Given the description of an element on the screen output the (x, y) to click on. 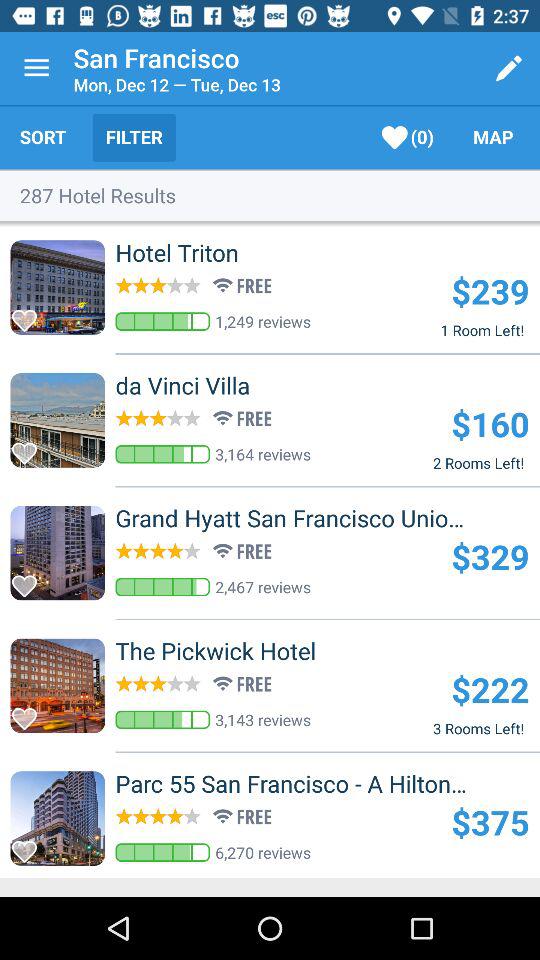
likes a place (30, 713)
